Given the description of an element on the screen output the (x, y) to click on. 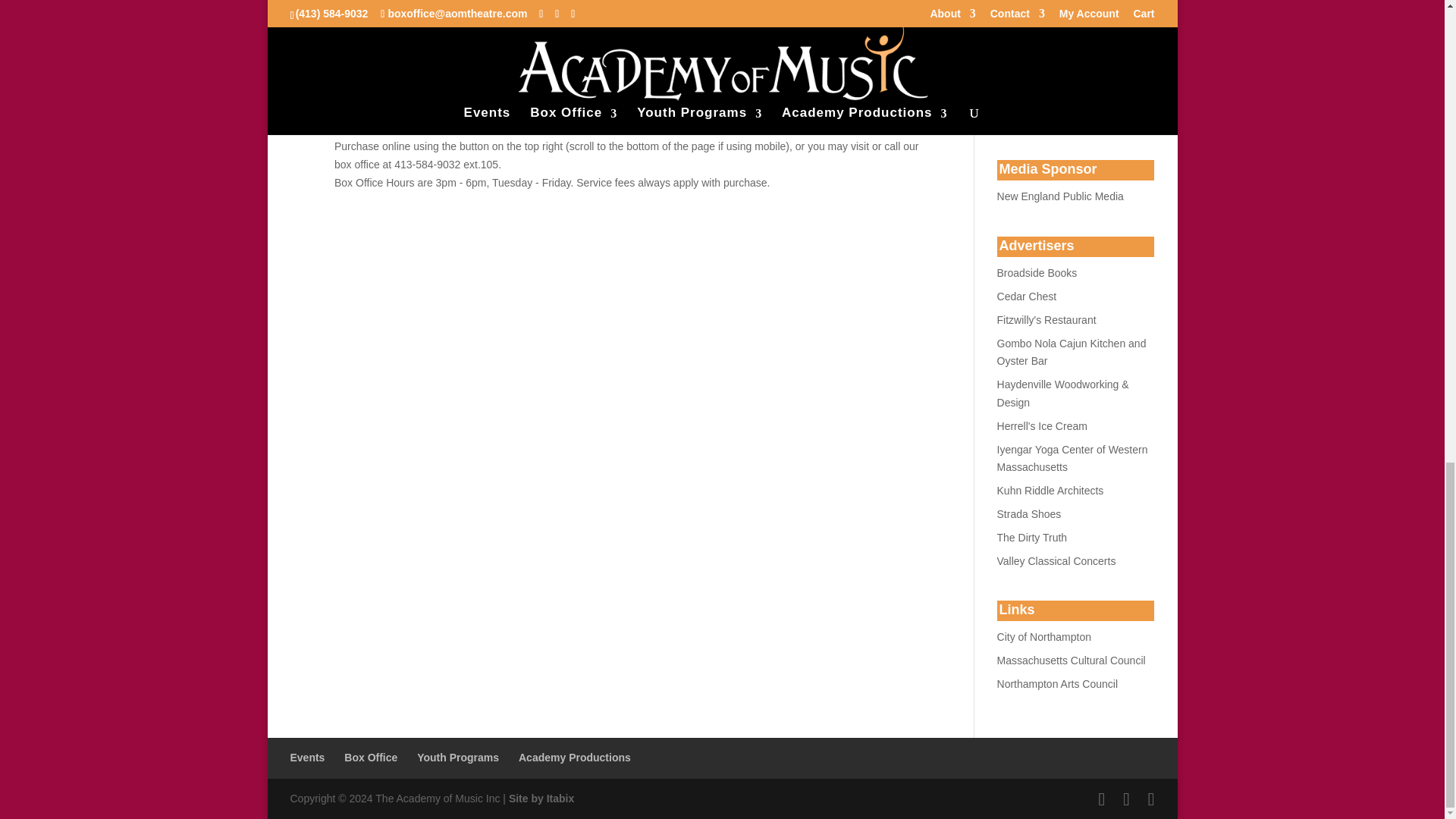
Northampton Chamber of Commerce (1046, 319)
